Given the description of an element on the screen output the (x, y) to click on. 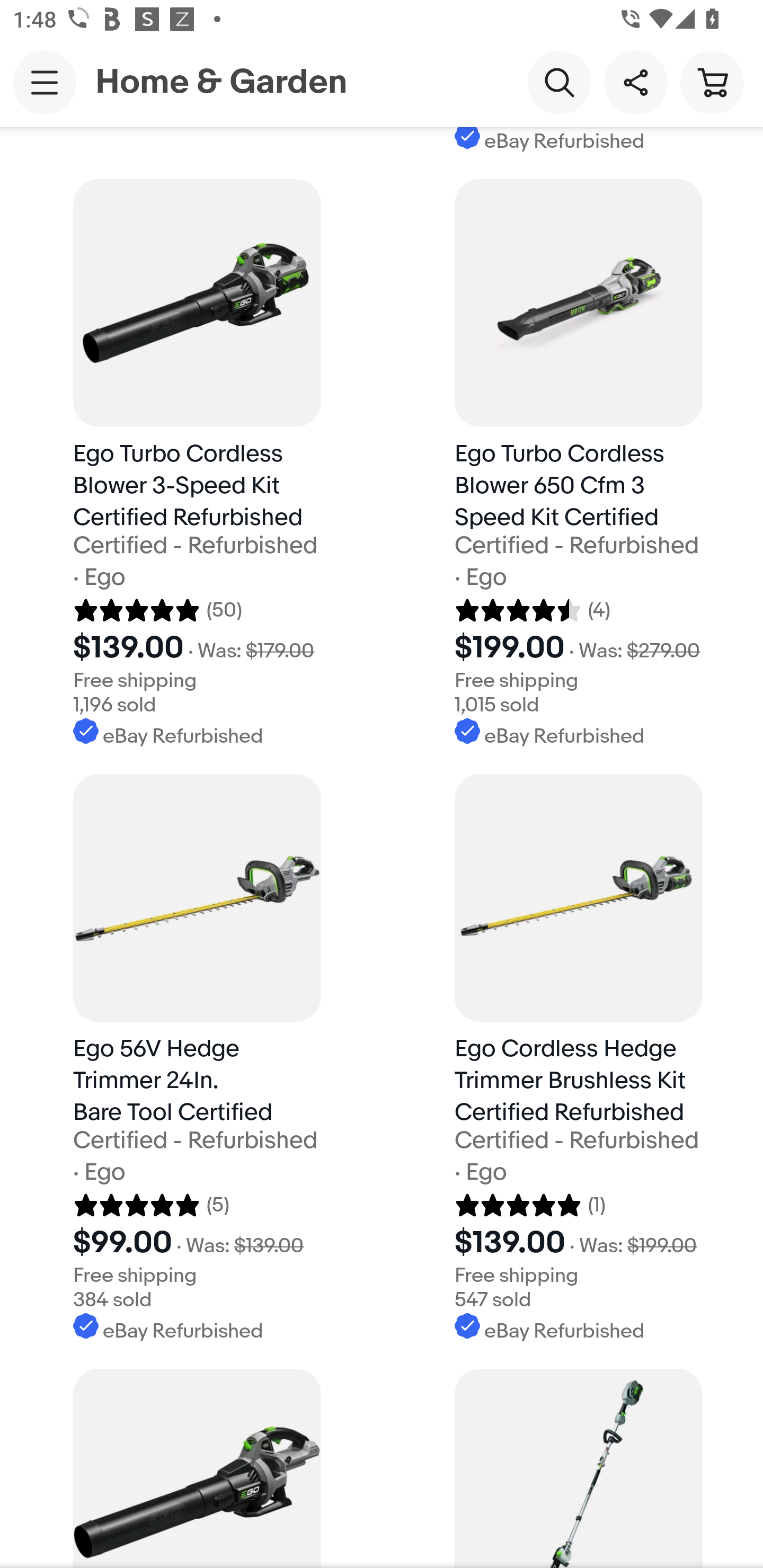
Main navigation, open (44, 82)
Search (559, 81)
Share this item (635, 81)
Cart button shopping cart (711, 81)
